Given the description of an element on the screen output the (x, y) to click on. 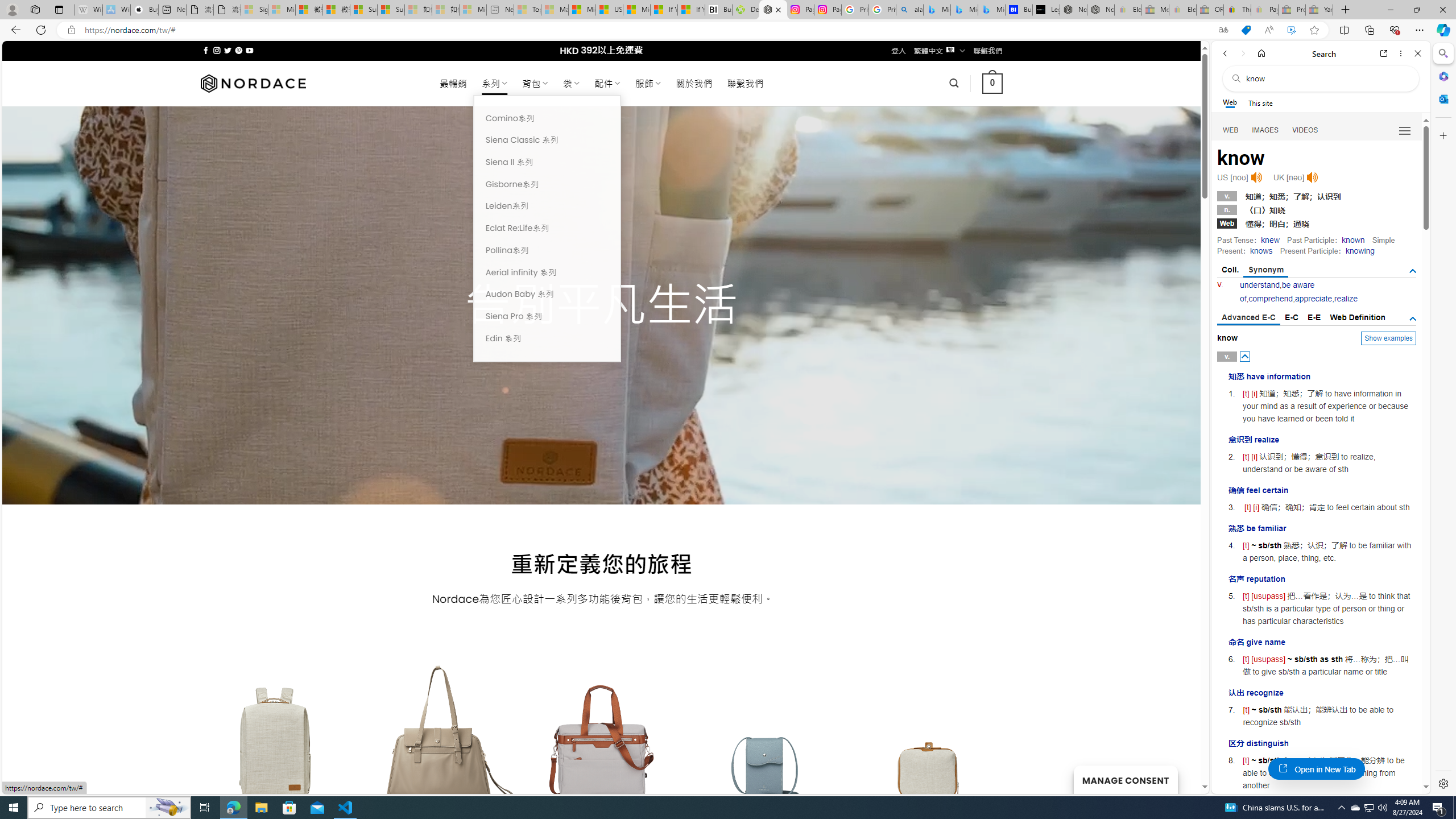
Search Filter, WEB (1231, 129)
knowing (1359, 250)
  0   (992, 83)
Top Stories - MSN - Sleeping (527, 9)
This site has coupons! Shopping in Microsoft Edge (1245, 29)
